Given the description of an element on the screen output the (x, y) to click on. 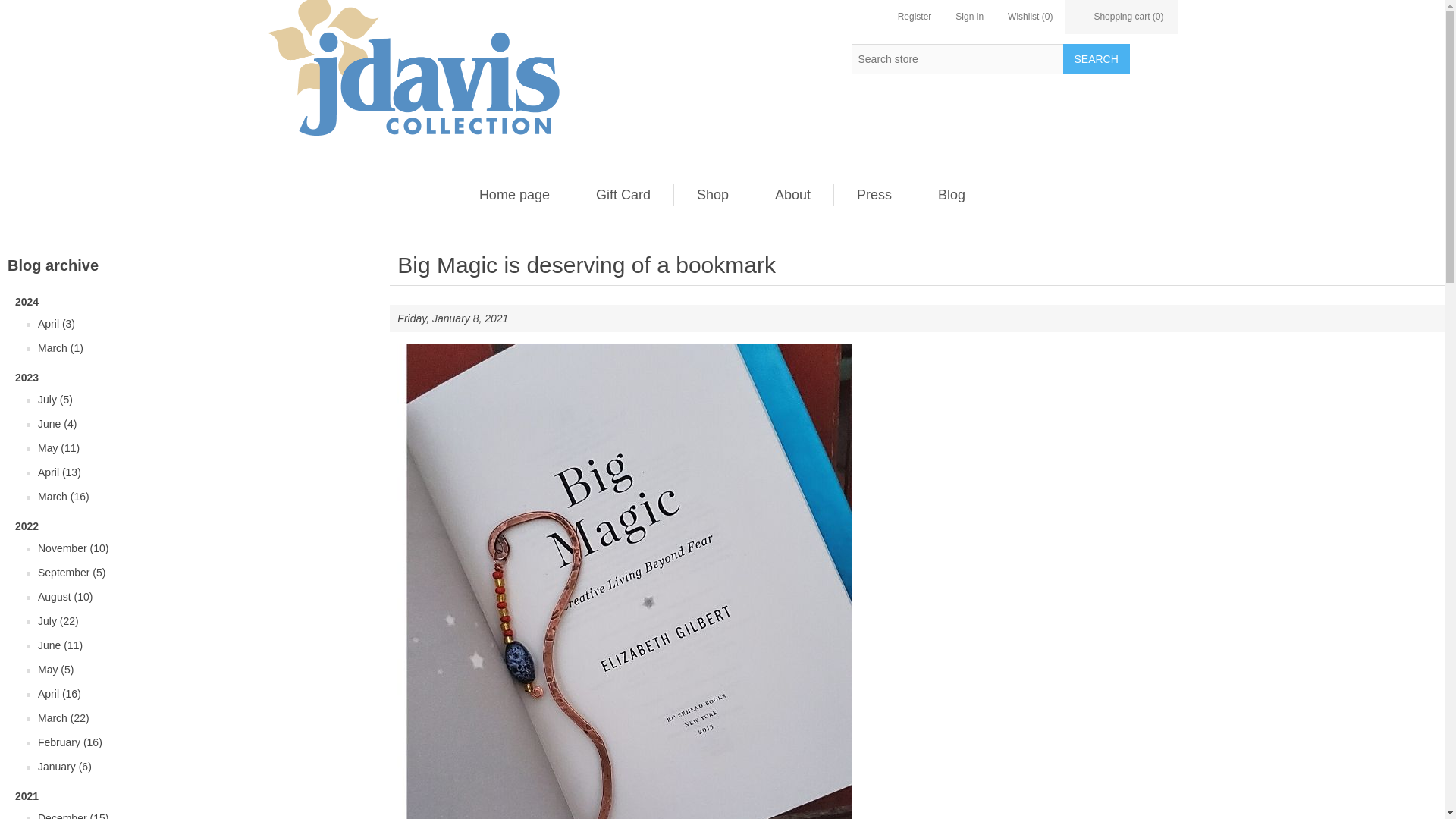
Shop (712, 194)
About (792, 194)
Home page (514, 194)
Register (914, 17)
Blog (951, 194)
Press (873, 194)
Gift Card (623, 194)
SEARCH (1095, 59)
